Given the description of an element on the screen output the (x, y) to click on. 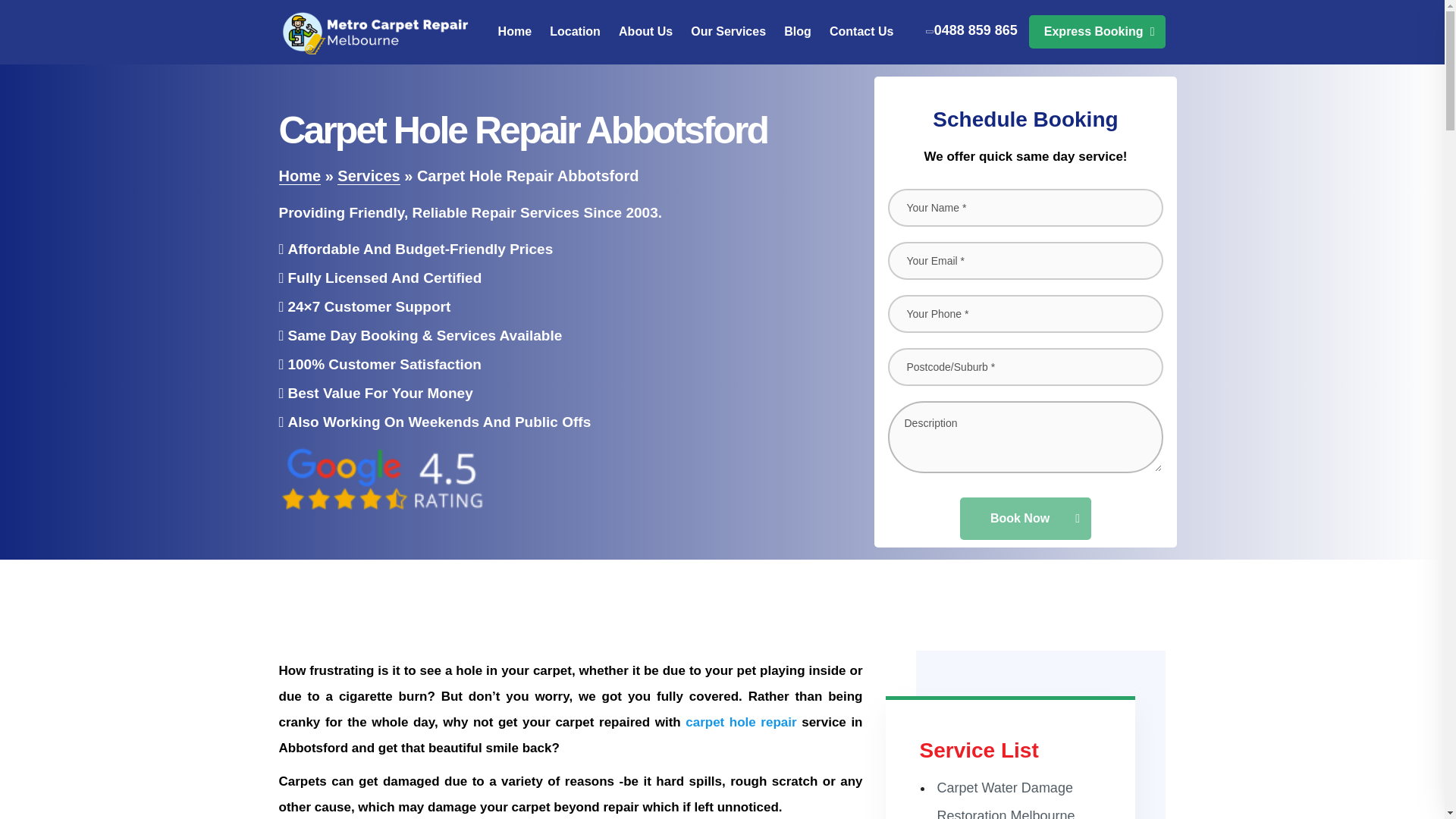
Our Services (727, 31)
